Given the description of an element on the screen output the (x, y) to click on. 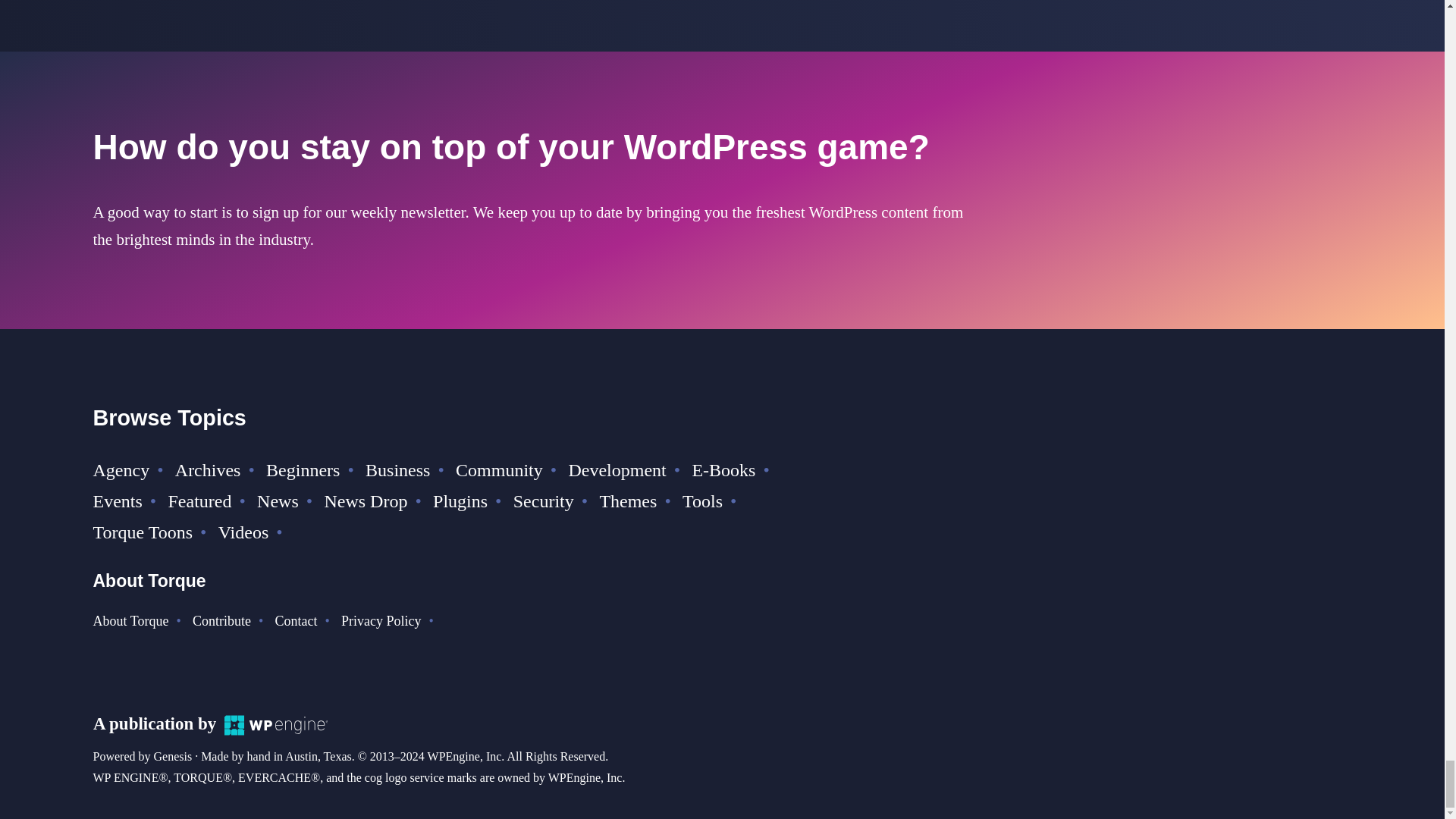
A publication by (210, 723)
